Given the description of an element on the screen output the (x, y) to click on. 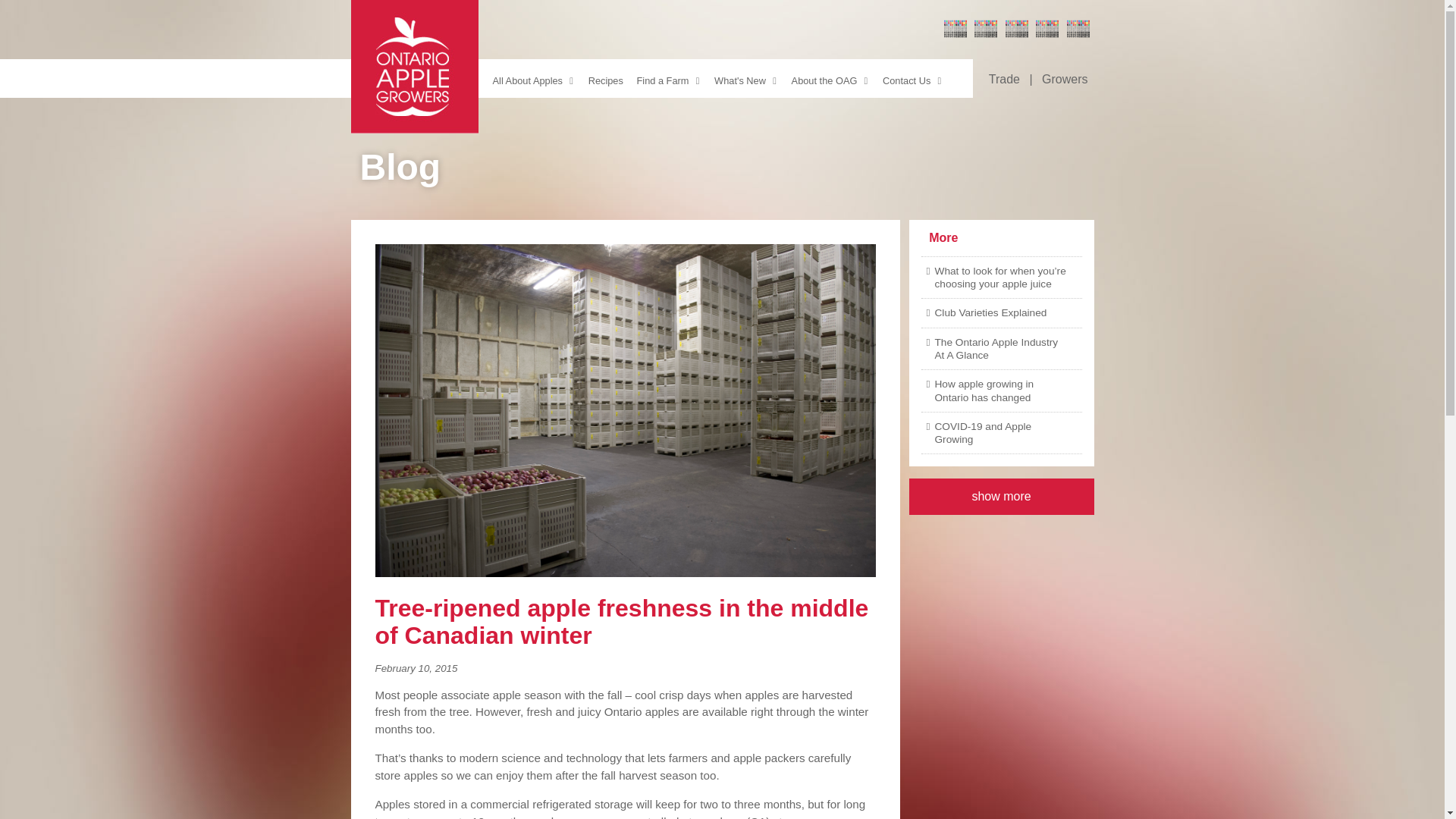
Contact Us (913, 77)
Recipes  (607, 77)
What's New (747, 77)
Find a Farm (669, 77)
About the OAG (831, 77)
All About Apples (534, 77)
